Given the description of an element on the screen output the (x, y) to click on. 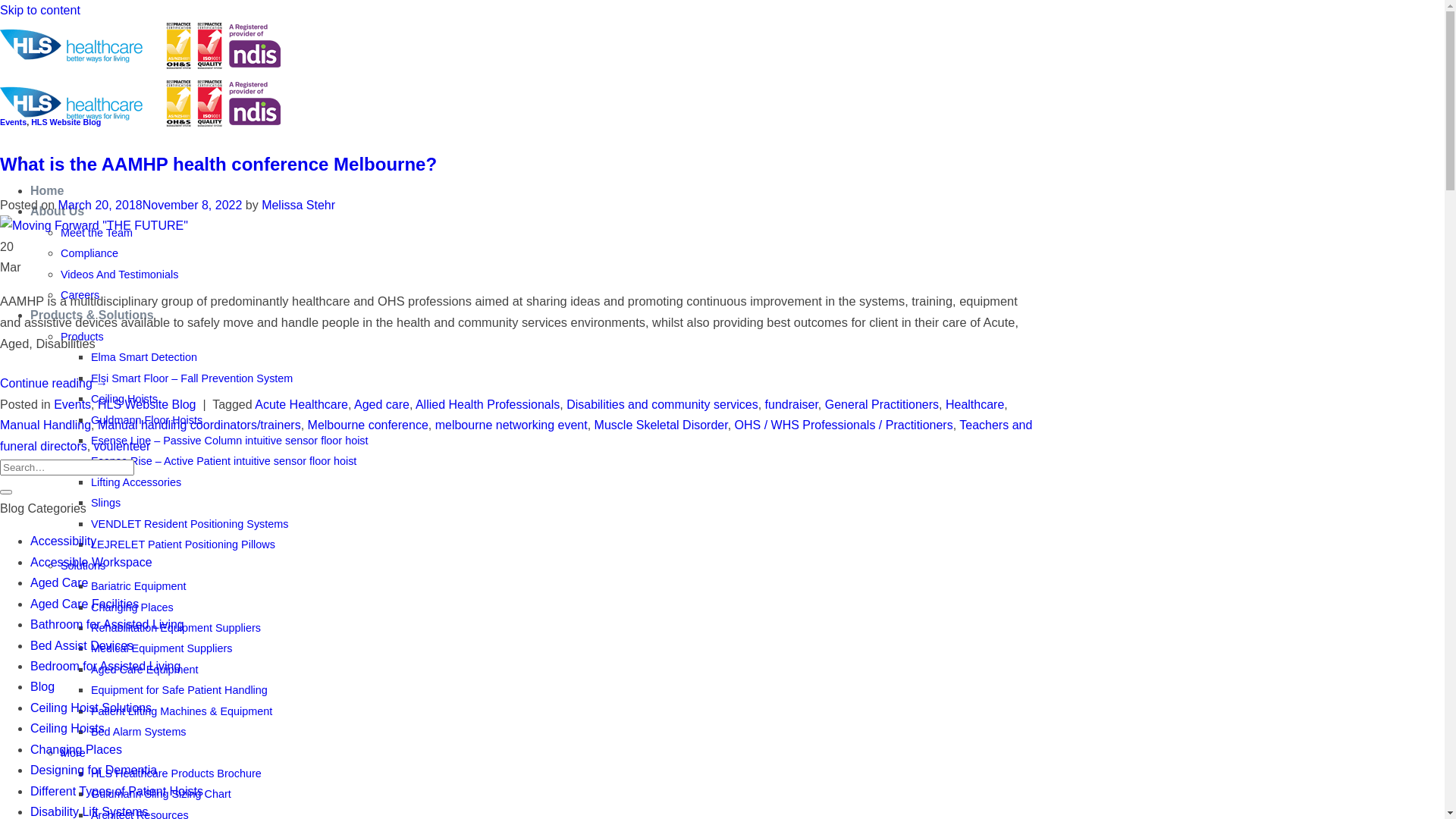
Disabilities and community services Element type: text (662, 404)
Products Element type: text (81, 336)
voulenteer Element type: text (122, 445)
Guldmann Floor Hoists Element type: text (146, 420)
VENDLET Resident Positioning Systems Element type: text (189, 523)
Equipment for Safe Patient Handling Element type: text (179, 690)
Healthcare Element type: text (974, 404)
Solutions Element type: text (82, 565)
HLS Healthcare Products Brochure Element type: text (176, 773)
Aged Care Equipment Element type: text (144, 669)
Skip to content Element type: text (40, 9)
melbourne networking event Element type: text (511, 424)
Ceiling Hoists Element type: text (124, 398)
Meet the Team Element type: text (96, 232)
Elma Smart Detection Element type: text (144, 357)
Manual Handling Element type: text (45, 424)
Lifting Accessories Element type: text (136, 482)
Ceiling Hoist Solutions Element type: text (90, 707)
About Us Element type: text (57, 210)
Allied Health Professionals Element type: text (487, 404)
Blog Element type: text (42, 686)
Acute Healthcare Element type: text (301, 404)
Changing Places Element type: text (76, 749)
Products & Solutions Element type: text (91, 314)
Accessibility Element type: text (63, 540)
fundraiser Element type: text (791, 404)
Home Element type: text (46, 190)
Manual handling coordinators/trainers Element type: text (199, 424)
HLS Website Blog Element type: text (65, 121)
What is the AAMHP health conference Melbourne? Element type: text (218, 163)
Events Element type: text (72, 404)
Bedroom for Assisted Living Element type: text (105, 665)
More Element type: text (72, 752)
Melbourne conference Element type: text (367, 424)
Bathroom for Assisted Living Element type: text (107, 624)
Melissa Stehr Element type: text (298, 204)
Designing for Dementia Element type: text (93, 769)
Ceiling Hoists Element type: text (67, 727)
HLS Website Blog Element type: text (146, 404)
Guldmann Sling Sizing Chart Element type: text (161, 793)
Aged Care Element type: text (59, 582)
March 20, 2018November 8, 2022 Element type: text (149, 204)
Slings Element type: text (105, 502)
LEJRELET Patient Positioning Pillows Element type: text (183, 544)
Bed Alarm Systems Element type: text (138, 731)
Compliance Element type: text (89, 253)
Different Types of Patient Hoists Element type: text (116, 790)
General Practitioners Element type: text (881, 404)
Changing Places Element type: text (132, 606)
Medical Equipment Suppliers Element type: text (161, 648)
Bed Assist Devices Element type: text (81, 645)
Videos And Testimonials Element type: text (119, 274)
Teachers and funeral directors Element type: text (516, 434)
Patient Lifting Machines & Equipment Element type: text (181, 711)
Muscle Skeletal Disorder Element type: text (661, 424)
Careers Element type: text (79, 294)
Aged care Element type: text (381, 404)
Accessible Workspace Element type: text (91, 561)
Events Element type: text (13, 121)
HLS Healthcare Pty Ltd Element type: hover (140, 95)
OHS / WHS Professionals / Practitioners Element type: text (843, 424)
Disability Lift Systems Element type: text (89, 811)
Rehabilitation Equipment Suppliers Element type: text (175, 627)
Aged Care Facilities Element type: text (84, 603)
Bariatric Equipment Element type: text (138, 586)
